Given the description of an element on the screen output the (x, y) to click on. 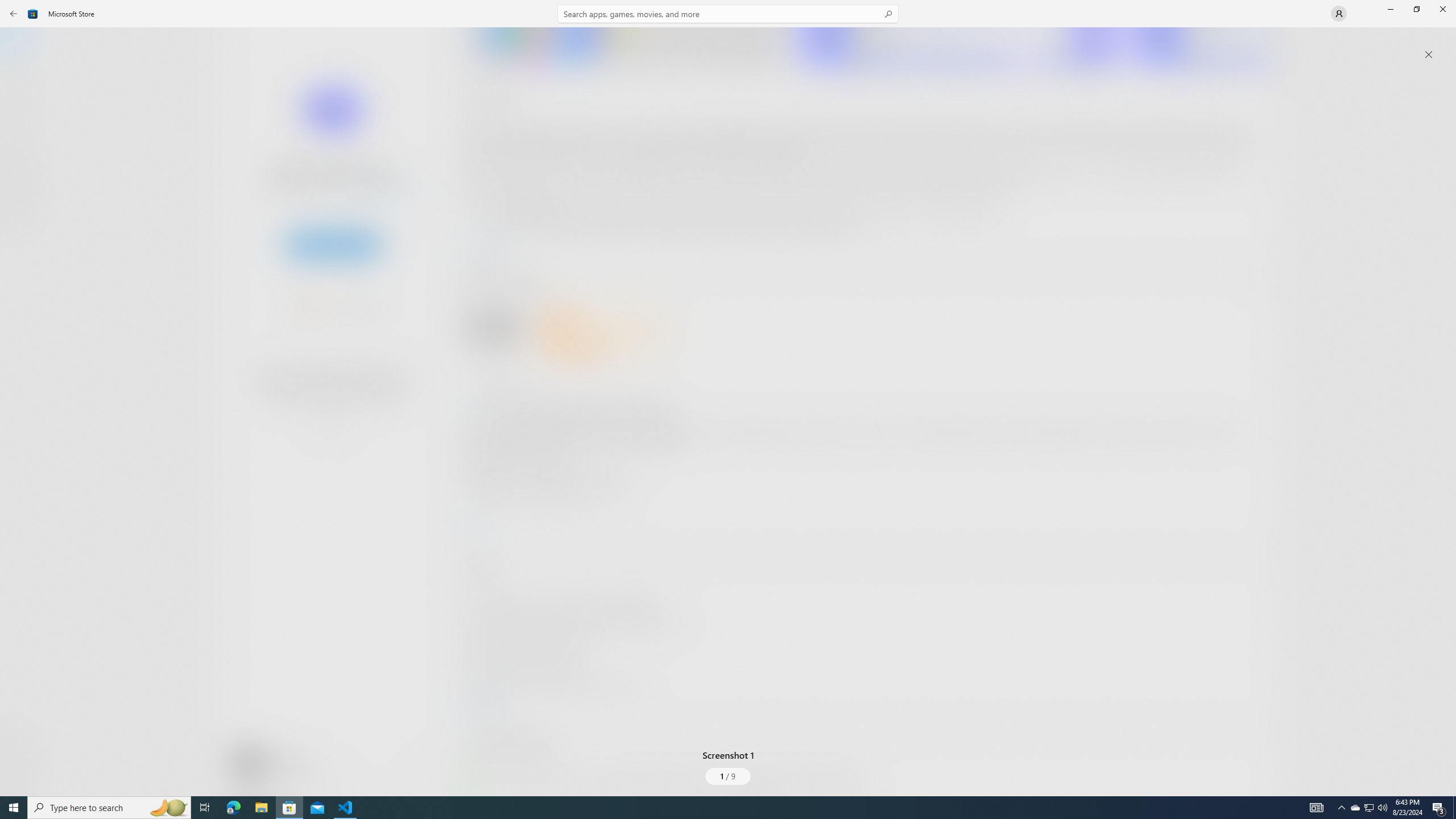
Gaming (20, 115)
Productivity (329, 426)
Screenshot 1 (727, 403)
Class: Image (32, 13)
Age rating: EVERYONE. Click for more information. (287, 762)
Microsoft Corporation (383, 189)
Home (20, 45)
AutomationID: NavigationControl (728, 398)
AI Hub (20, 221)
2.6 stars. Click to skip to ratings and reviews (307, 309)
Show all ratings and reviews (477, 527)
Search (727, 13)
Show all ratings and reviews (1253, 281)
Share (424, 769)
Screenshot 2 (959, 46)
